Given the description of an element on the screen output the (x, y) to click on. 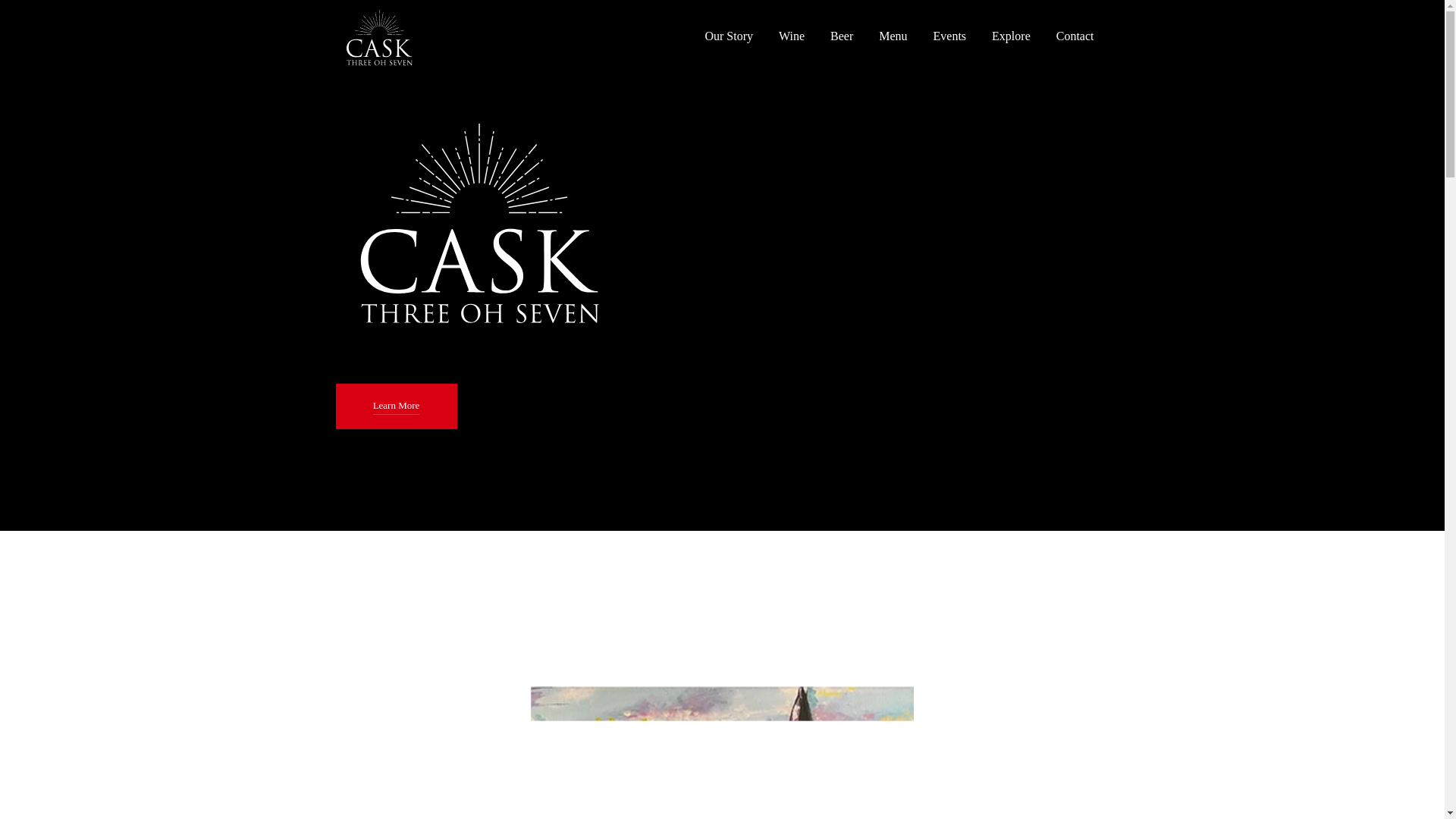
Wine (791, 35)
Learn More (395, 406)
Menu (893, 35)
Contact (1075, 35)
Explore (1010, 35)
Beer (841, 35)
Our Story (728, 35)
Events (949, 35)
